Given the description of an element on the screen output the (x, y) to click on. 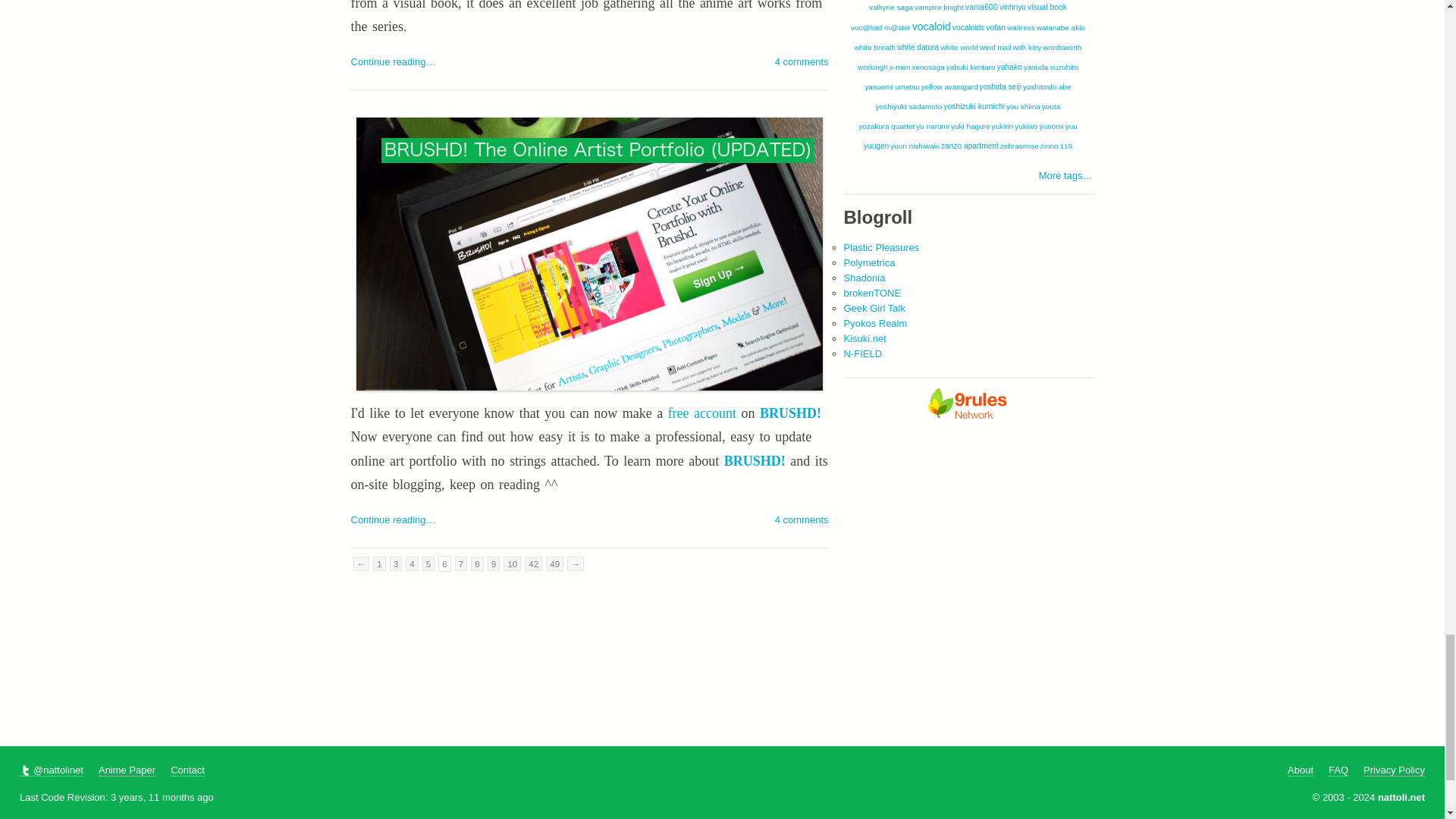
View comments (801, 61)
View comments (801, 519)
